Given the description of an element on the screen output the (x, y) to click on. 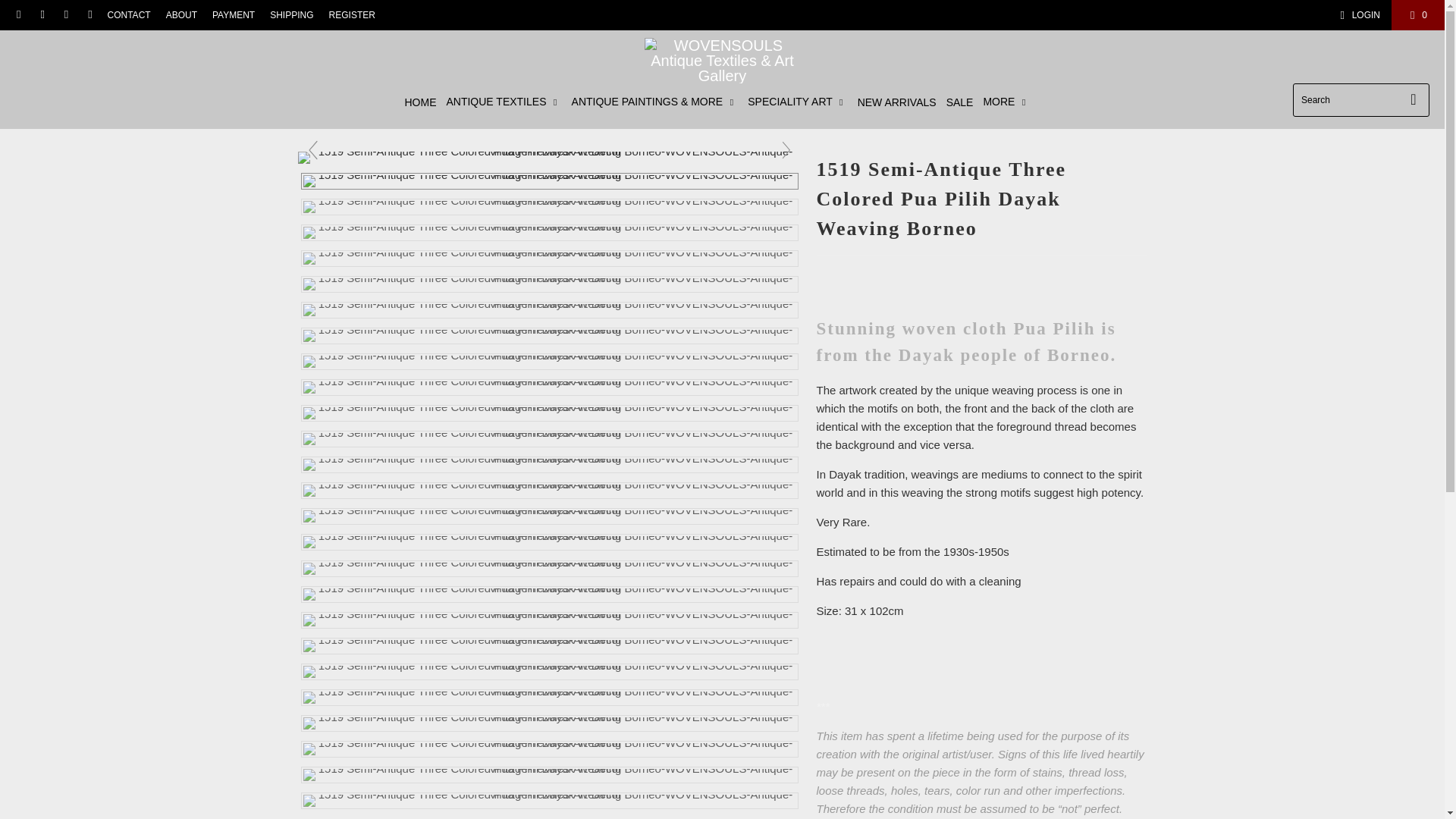
My Account  (1357, 14)
